Given the description of an element on the screen output the (x, y) to click on. 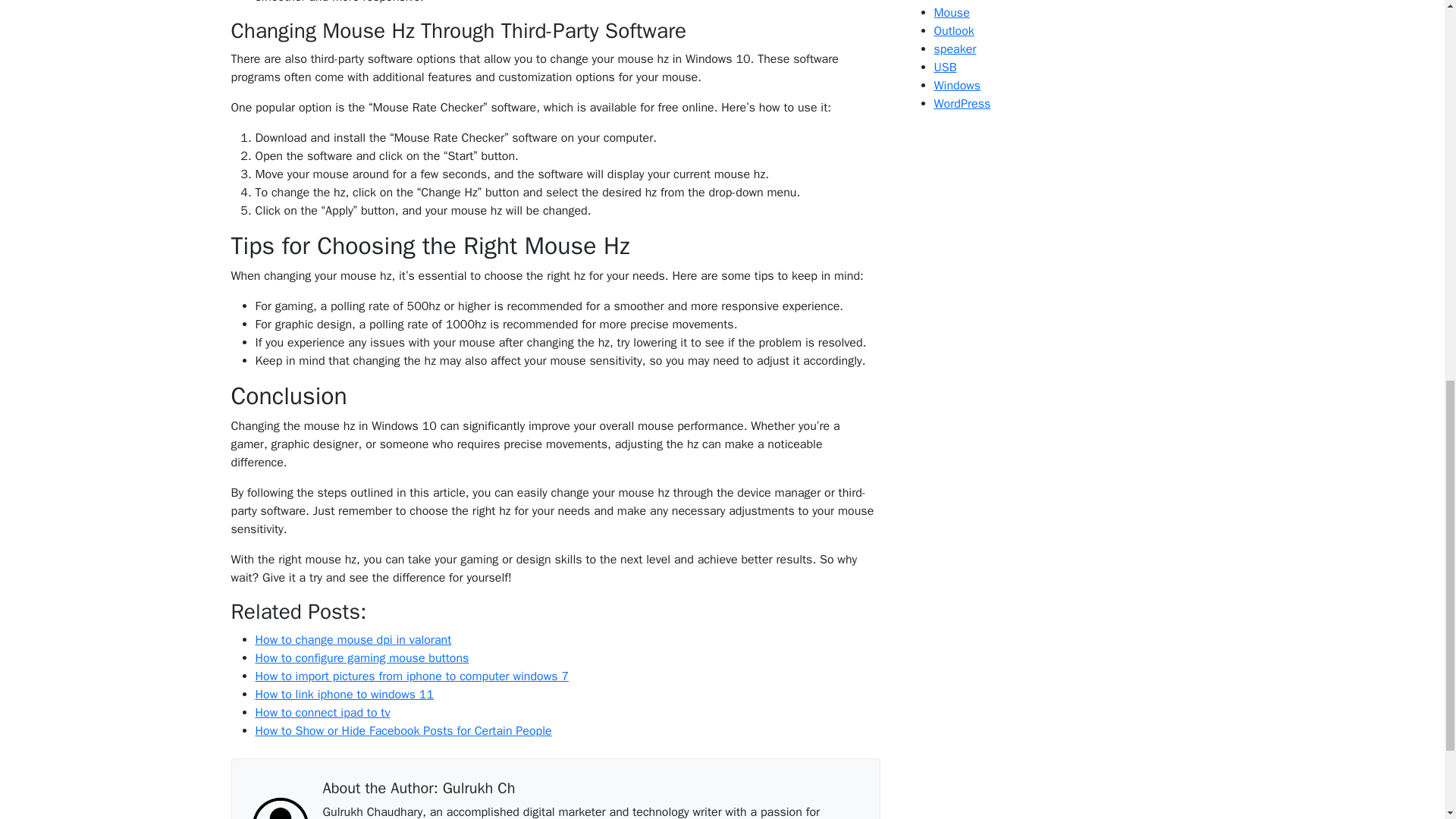
Outlook (954, 30)
How to change mouse dpi in valorant (352, 639)
How to configure gaming mouse buttons (361, 657)
How to link iphone to windows 11 (343, 694)
How to Show or Hide Facebook Posts for Certain People (402, 730)
speaker (955, 48)
How to connect ipad to tv (322, 712)
Mouse (951, 12)
Monitor (954, 1)
How to import pictures from iphone to computer windows 7 (410, 676)
